Given the description of an element on the screen output the (x, y) to click on. 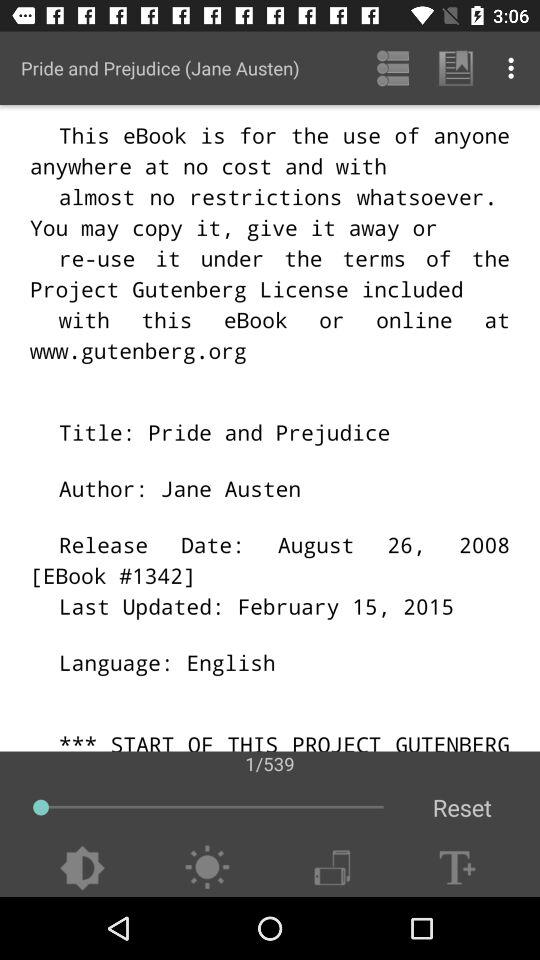
text box plus (457, 867)
